Given the description of an element on the screen output the (x, y) to click on. 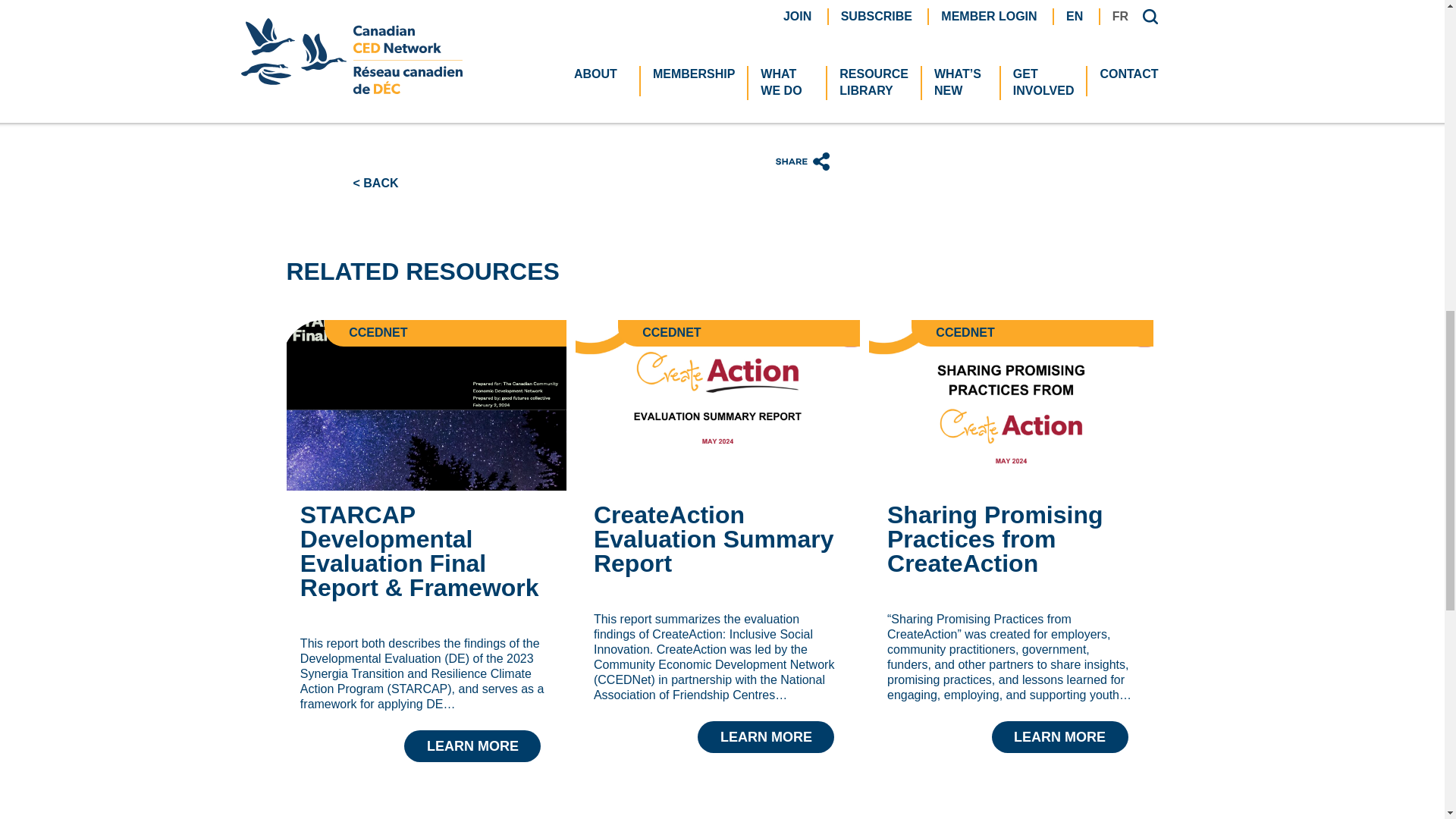
CreateAction Evaluation Summary Report (717, 602)
CCEDNet (537, 58)
back (375, 182)
Regional CED (707, 73)
Guide (369, 73)
CreateAction Evaluation Summary Report (717, 405)
Evaluation (697, 58)
Case study (383, 58)
